Given the description of an element on the screen output the (x, y) to click on. 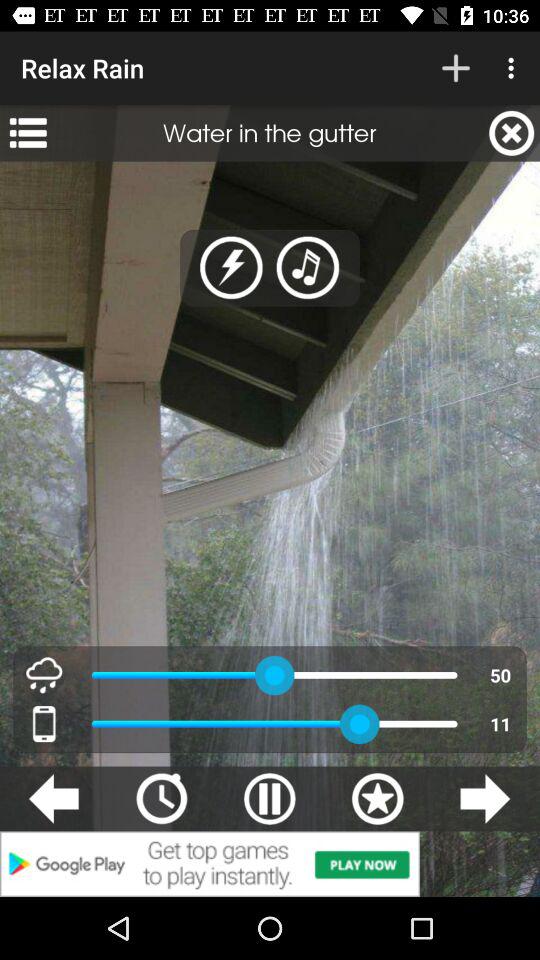
tap icon below water in the item (231, 267)
